Given the description of an element on the screen output the (x, y) to click on. 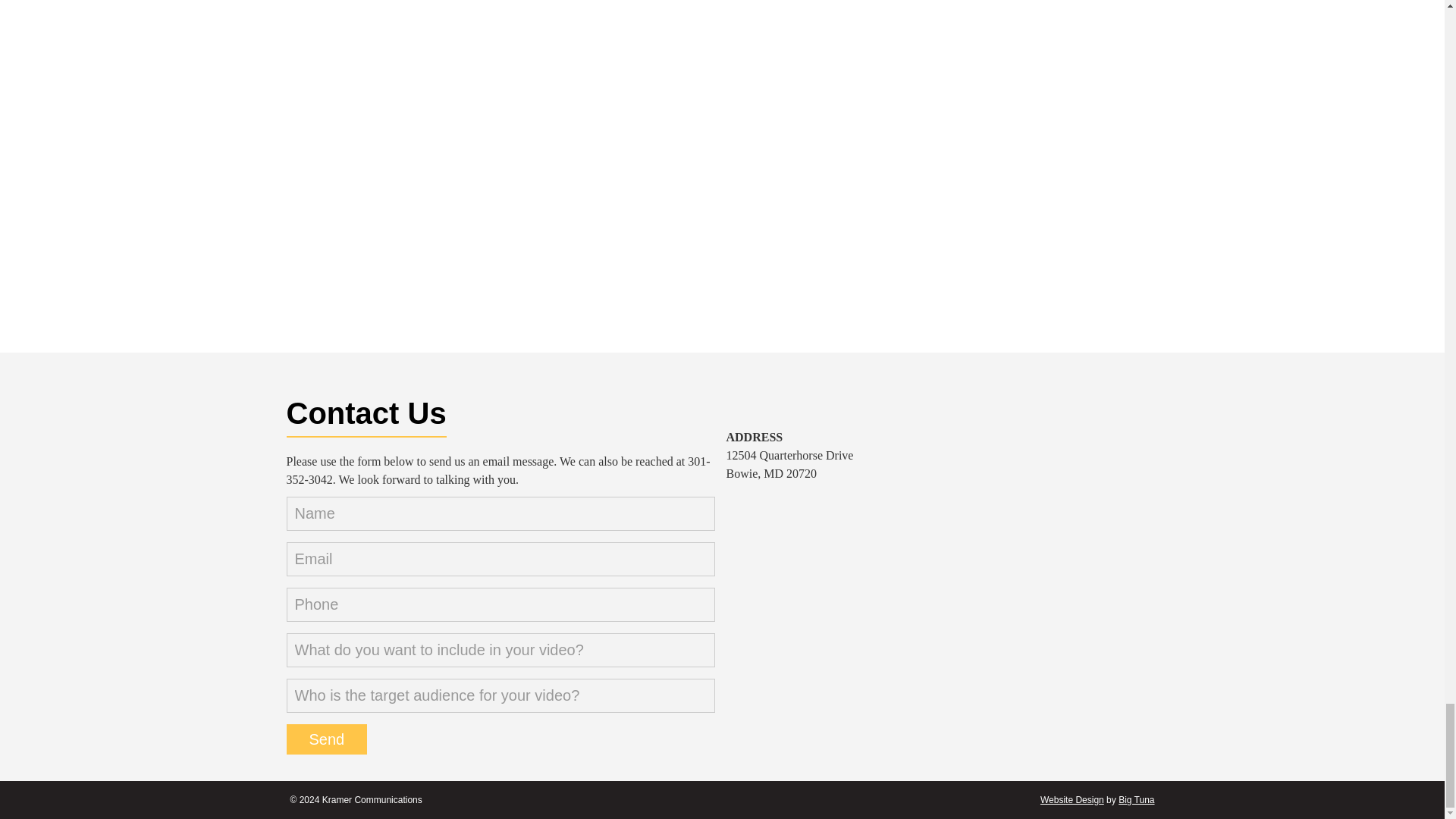
Website Design (1072, 799)
Big Tuna (1136, 799)
Send (327, 738)
Send (327, 738)
